Given the description of an element on the screen output the (x, y) to click on. 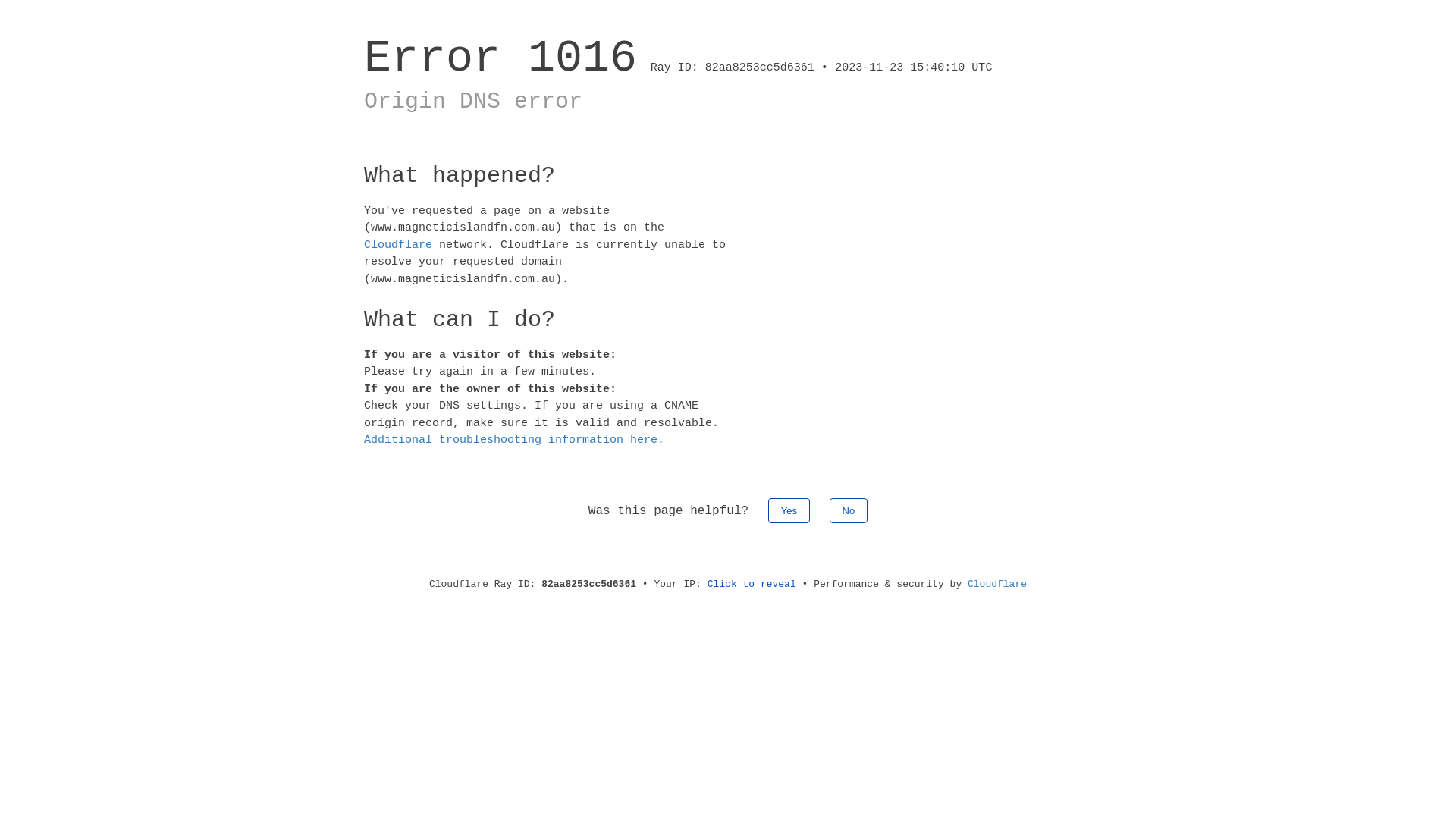
Additional troubleshooting information here. Element type: text (514, 439)
Yes Element type: text (788, 509)
Click to reveal Element type: text (751, 583)
No Element type: text (848, 509)
Cloudflare Element type: text (996, 583)
Cloudflare Element type: text (398, 244)
